Given the description of an element on the screen output the (x, y) to click on. 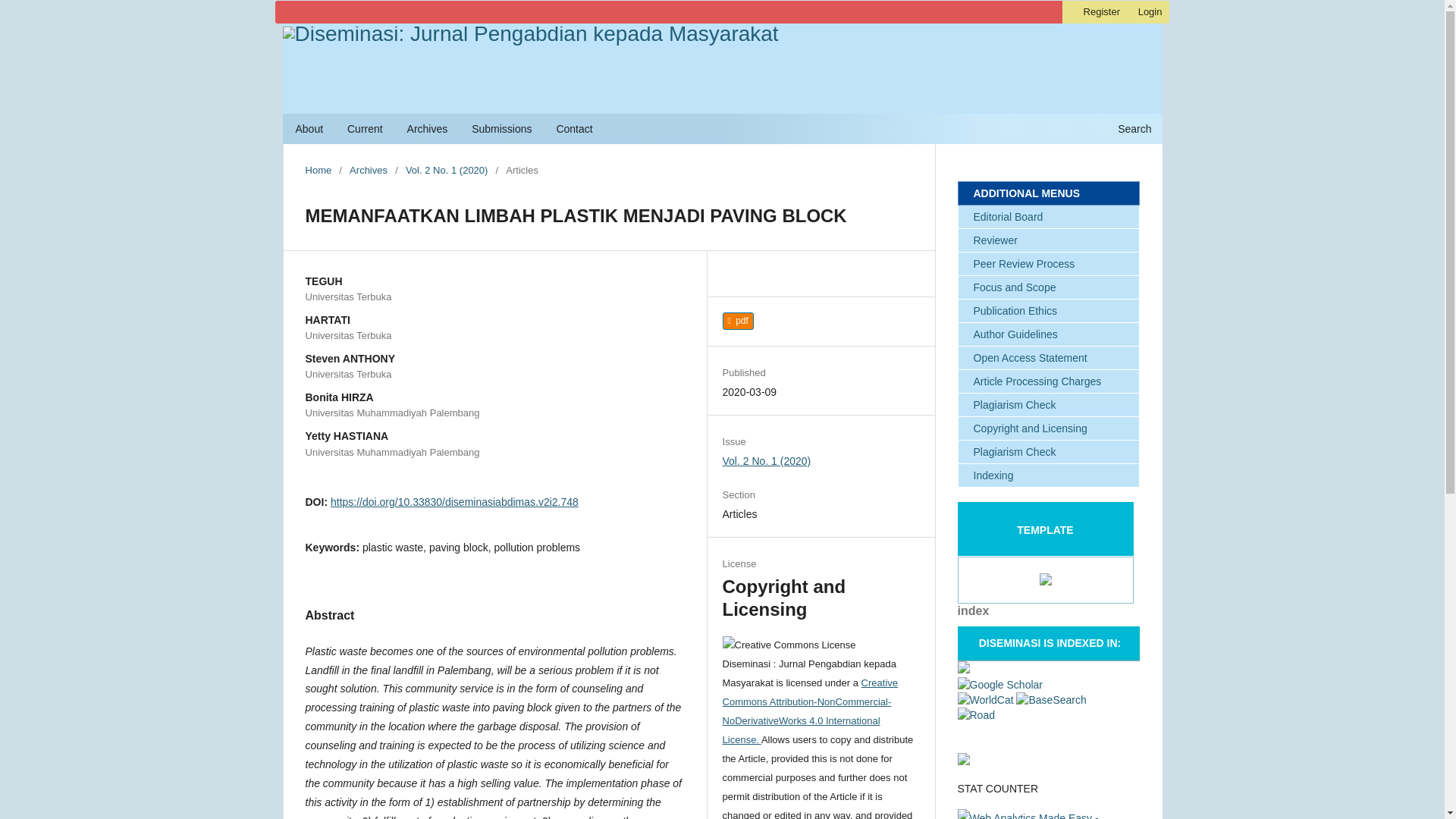
Focus and Scope (1047, 287)
Plagiarism Check (1047, 404)
Plagiarism Check (1047, 451)
Login (1150, 11)
About (309, 130)
Submissions (501, 130)
Open Access Statement (1047, 357)
Register (1100, 11)
Author Guidelines (1047, 334)
